Given the description of an element on the screen output the (x, y) to click on. 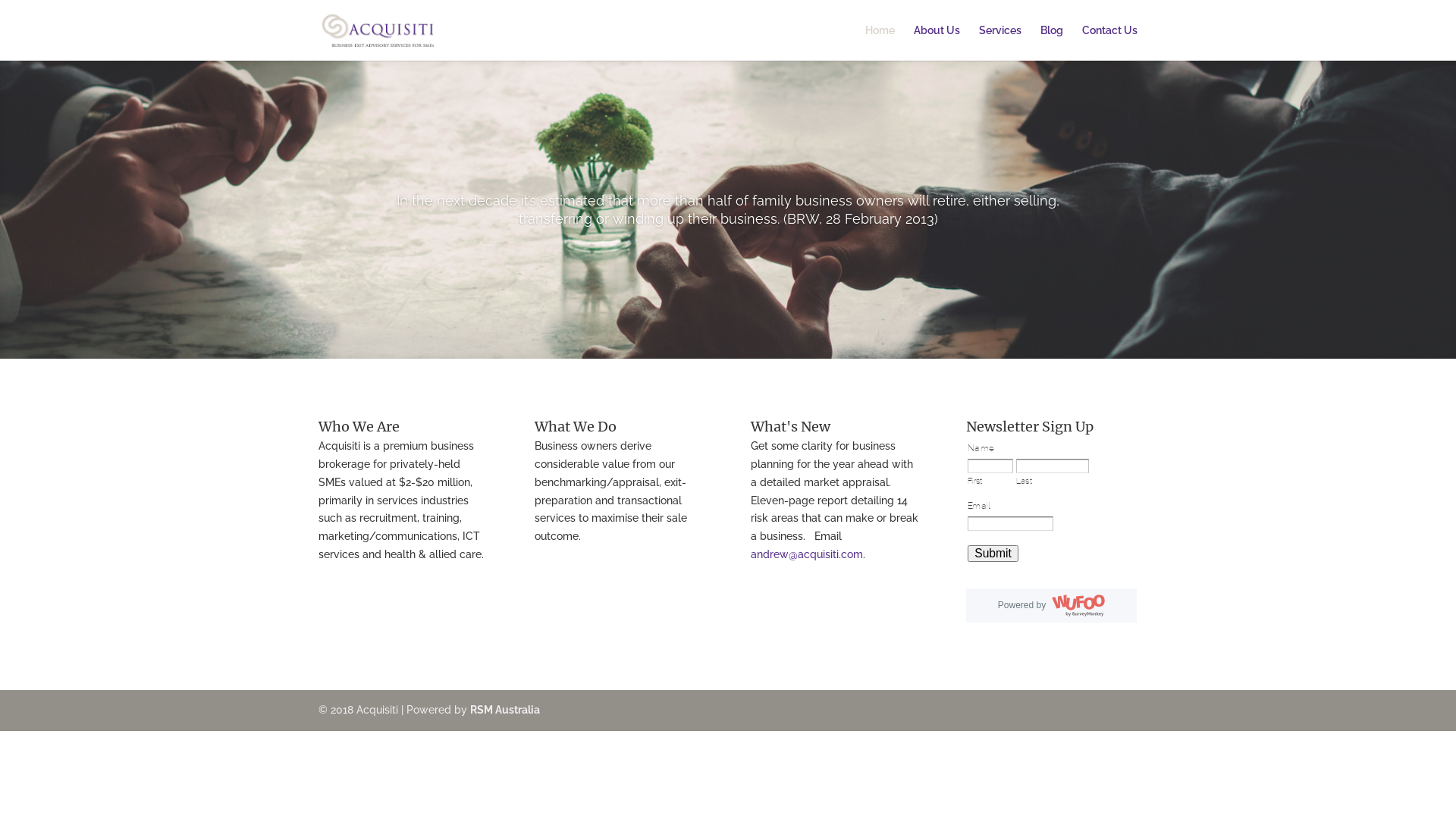
andrew@acquisiti.com Element type: text (806, 554)
What We Do Element type: text (575, 426)
RSM Australia Element type: text (504, 709)
Services Element type: text (1000, 42)
Blog Element type: text (1051, 42)
About Us Element type: text (936, 42)
What's New Element type: text (790, 426)
Home Element type: text (879, 42)
Contact Us Element type: text (1109, 42)
Who We Are Element type: text (358, 426)
